Given the description of an element on the screen output the (x, y) to click on. 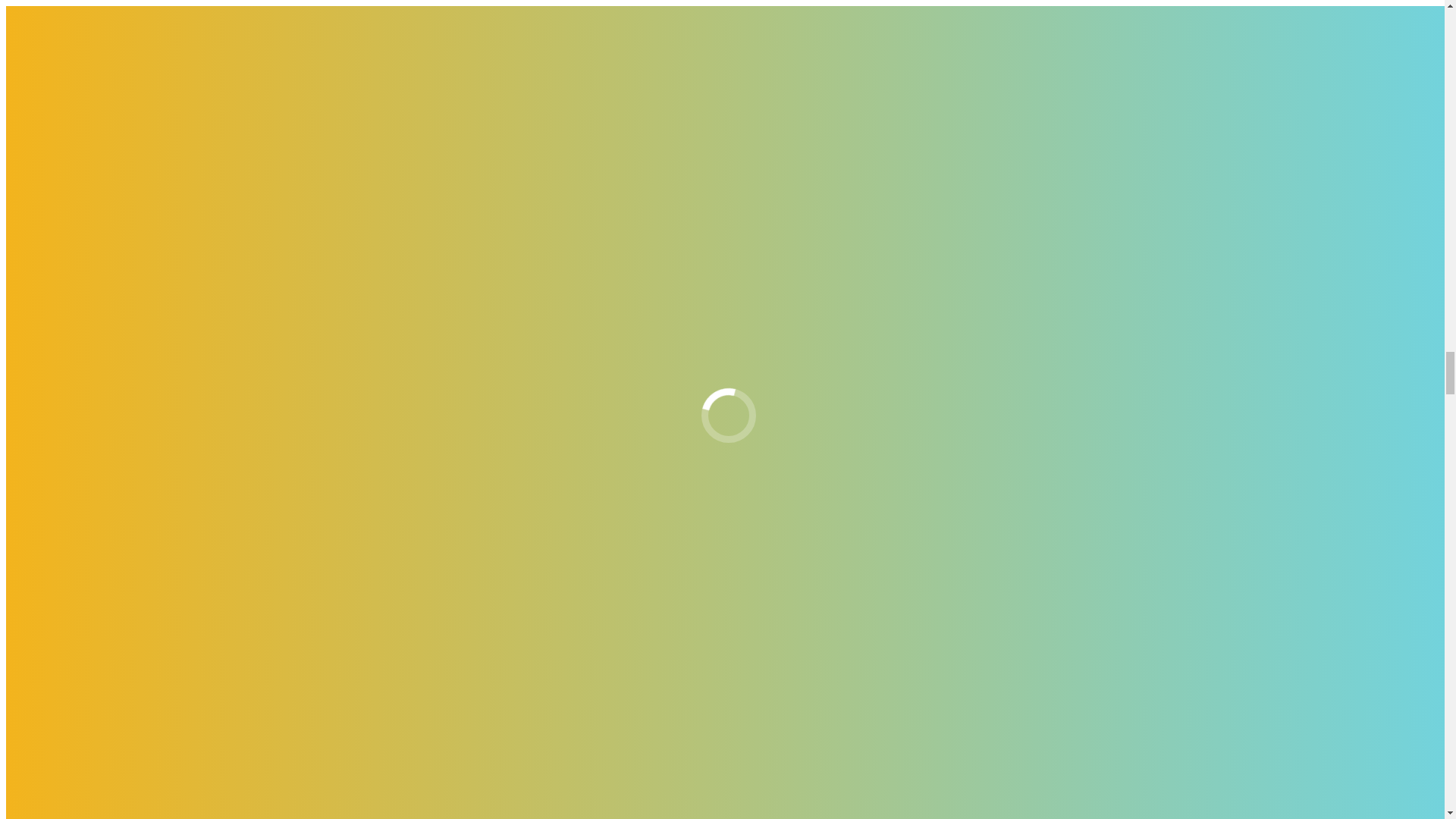
yes (13, 347)
Post Comment (44, 374)
Sign up (28, 795)
